Given the description of an element on the screen output the (x, y) to click on. 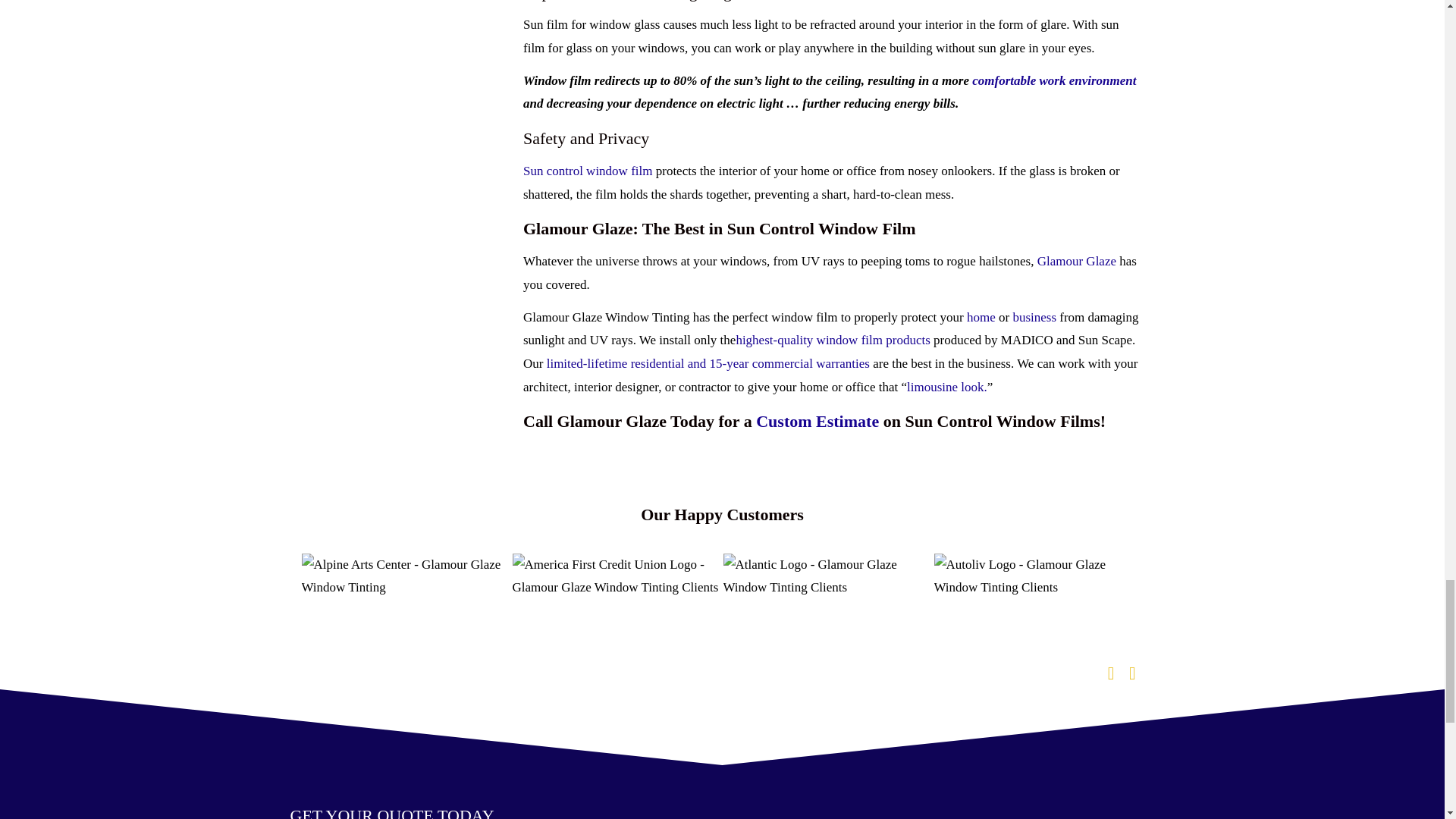
Atlantic - Our Clients - Glamour Glaze Window Tinting (828, 576)
